Given the description of an element on the screen output the (x, y) to click on. 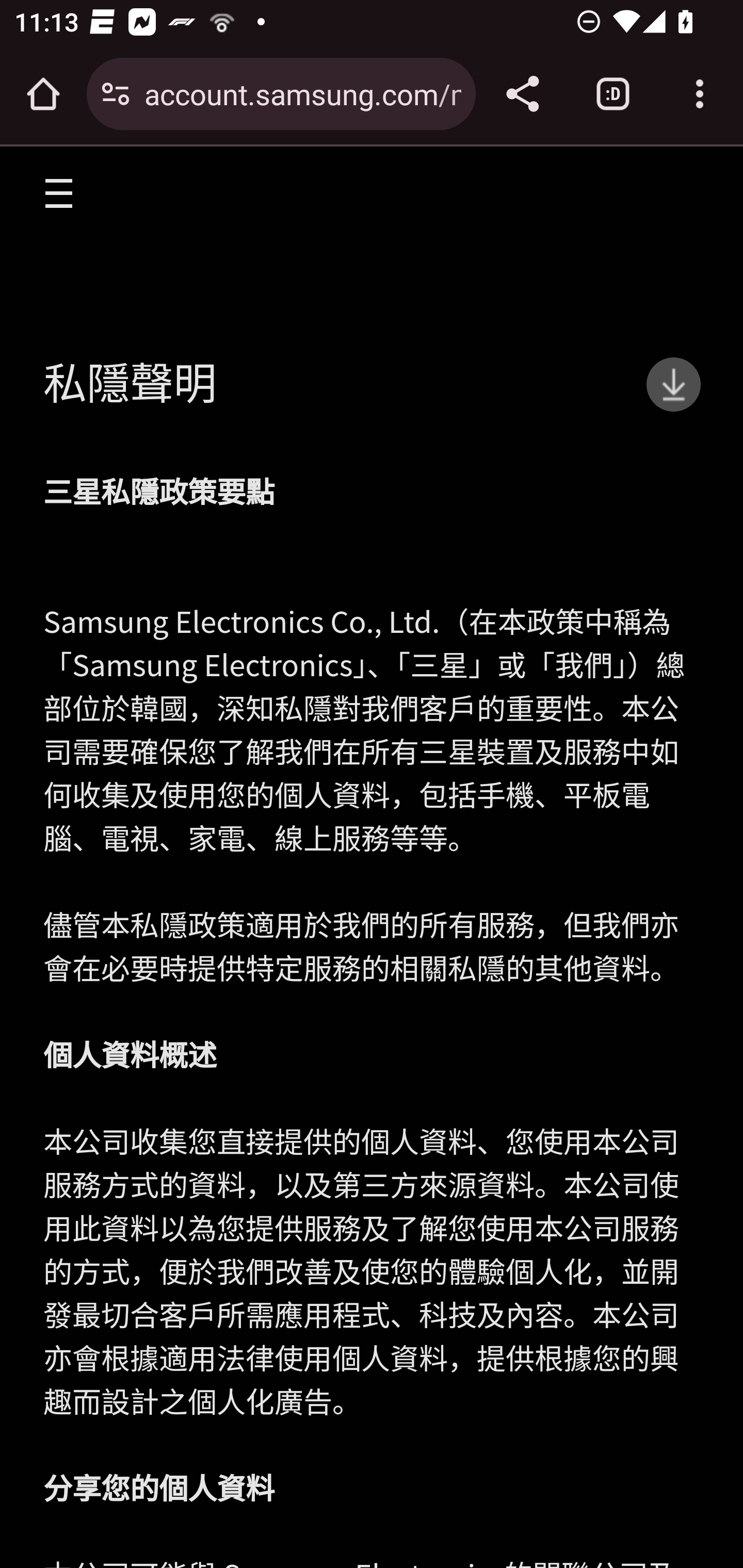
Open the home page (43, 93)
Connection is secure (115, 93)
Share (522, 93)
Switch or close tabs (612, 93)
Customize and control Google Chrome (699, 93)
下載 (674, 383)
